Given the description of an element on the screen output the (x, y) to click on. 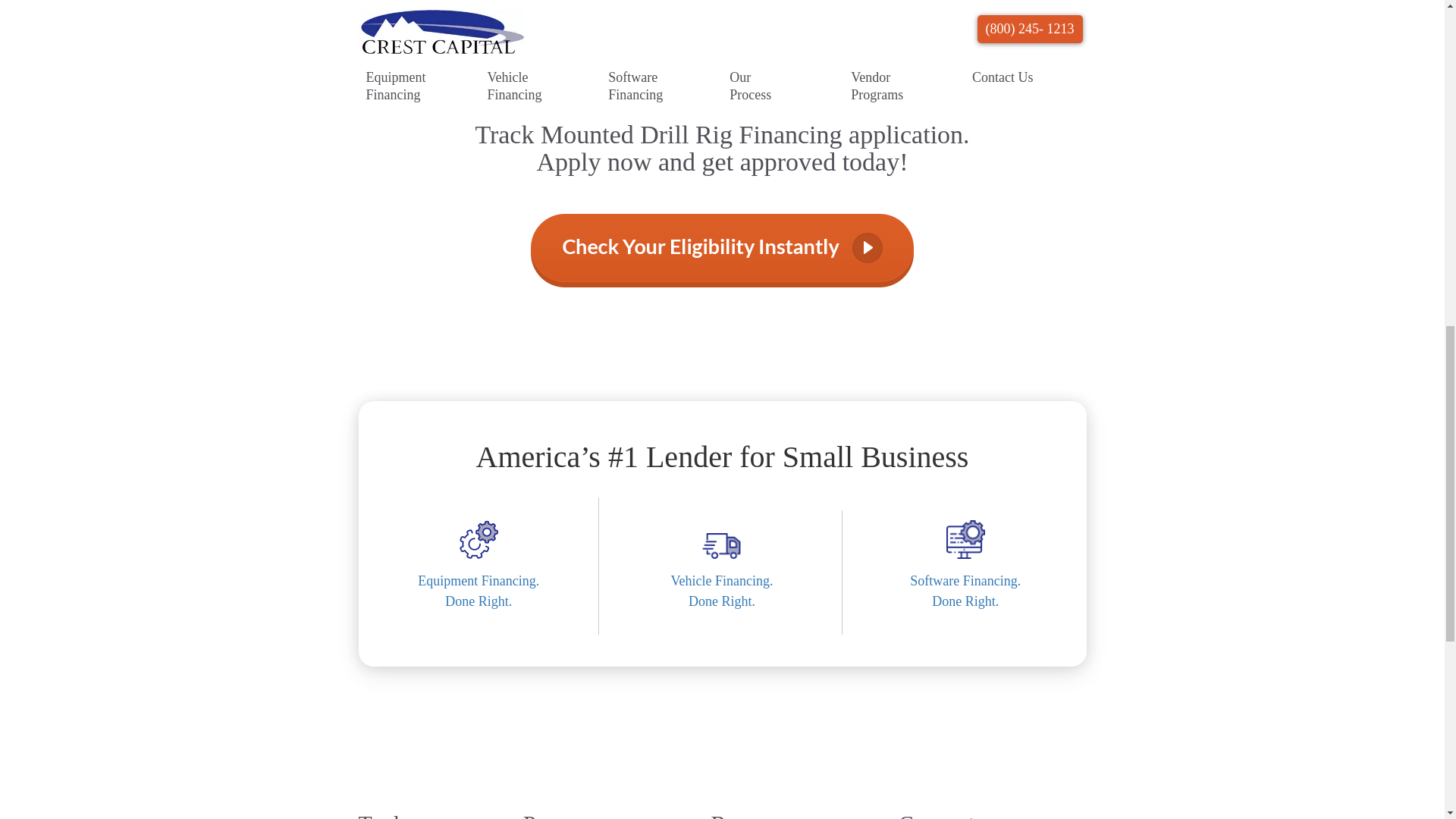
Contact us today (480, 602)
